Given the description of an element on the screen output the (x, y) to click on. 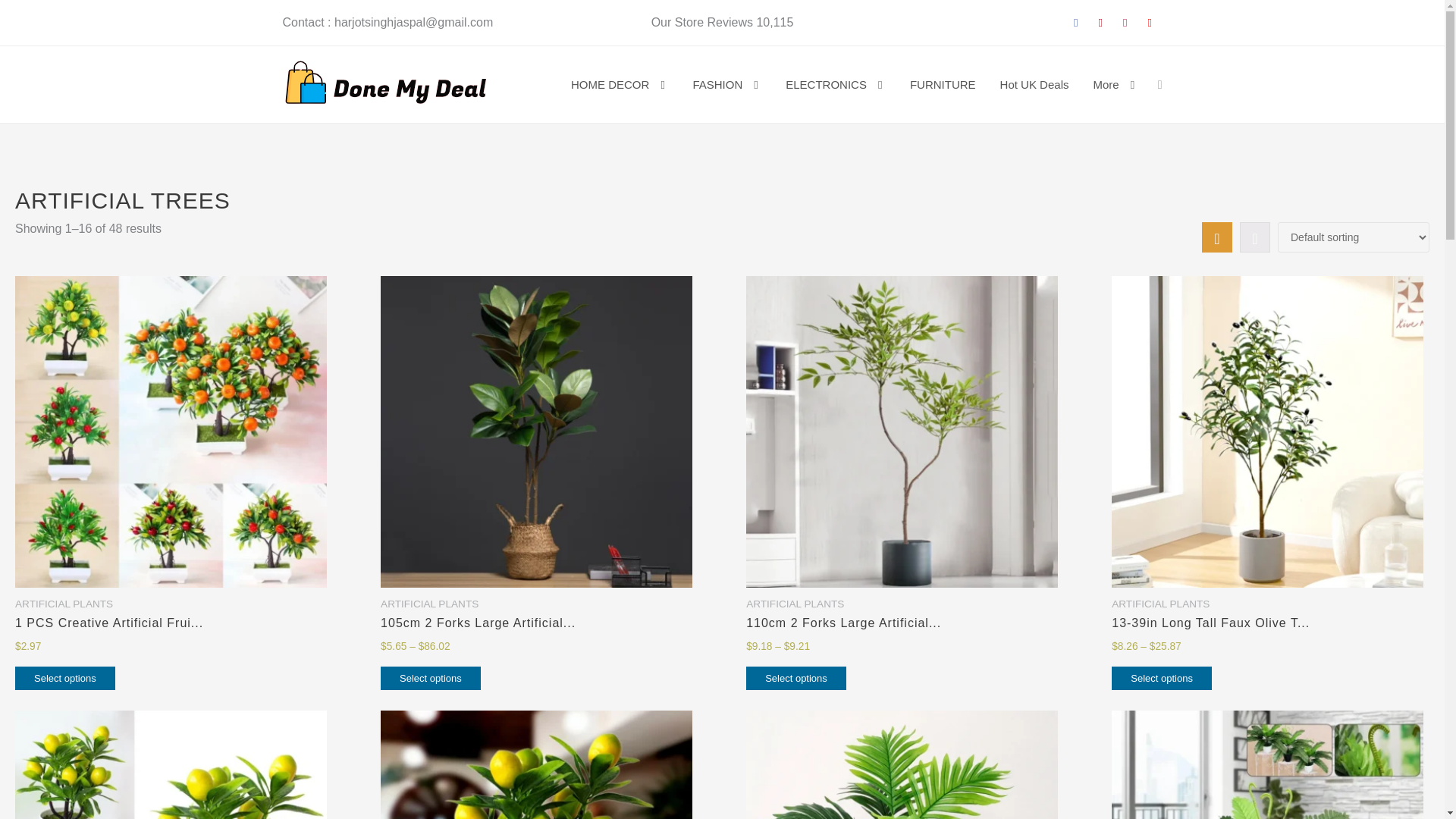
FASHION (726, 84)
Hot UK Deals (1034, 83)
More (1115, 84)
13-39in Long Tall Faux Olive T... (1267, 623)
110cm 2 Forks Large Artificial... (901, 623)
FURNITURE (943, 83)
Select options (795, 678)
HOME DECOR (619, 84)
Select options (64, 678)
List View (1254, 236)
